Given the description of an element on the screen output the (x, y) to click on. 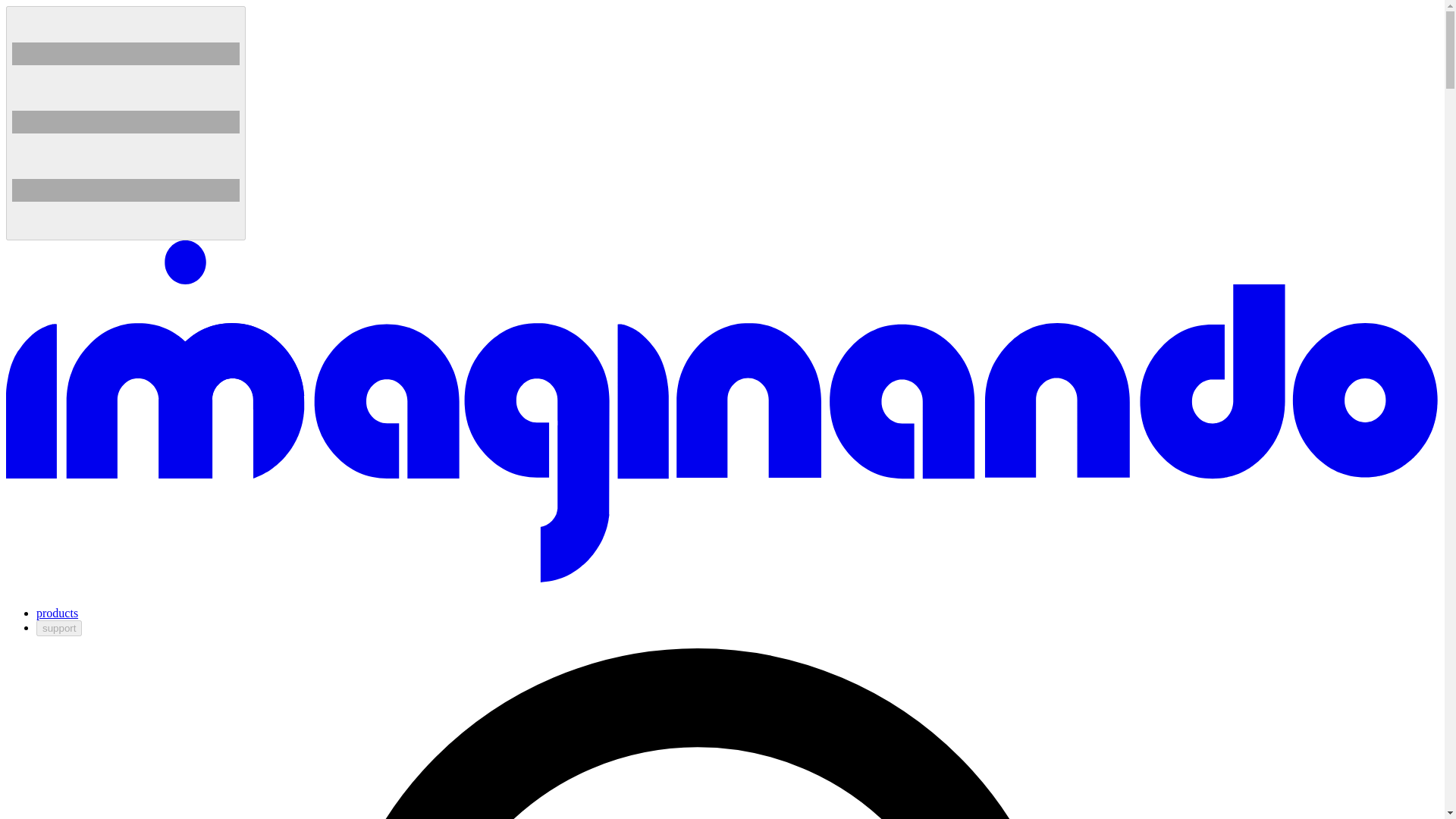
support (58, 627)
products (57, 612)
